Given the description of an element on the screen output the (x, y) to click on. 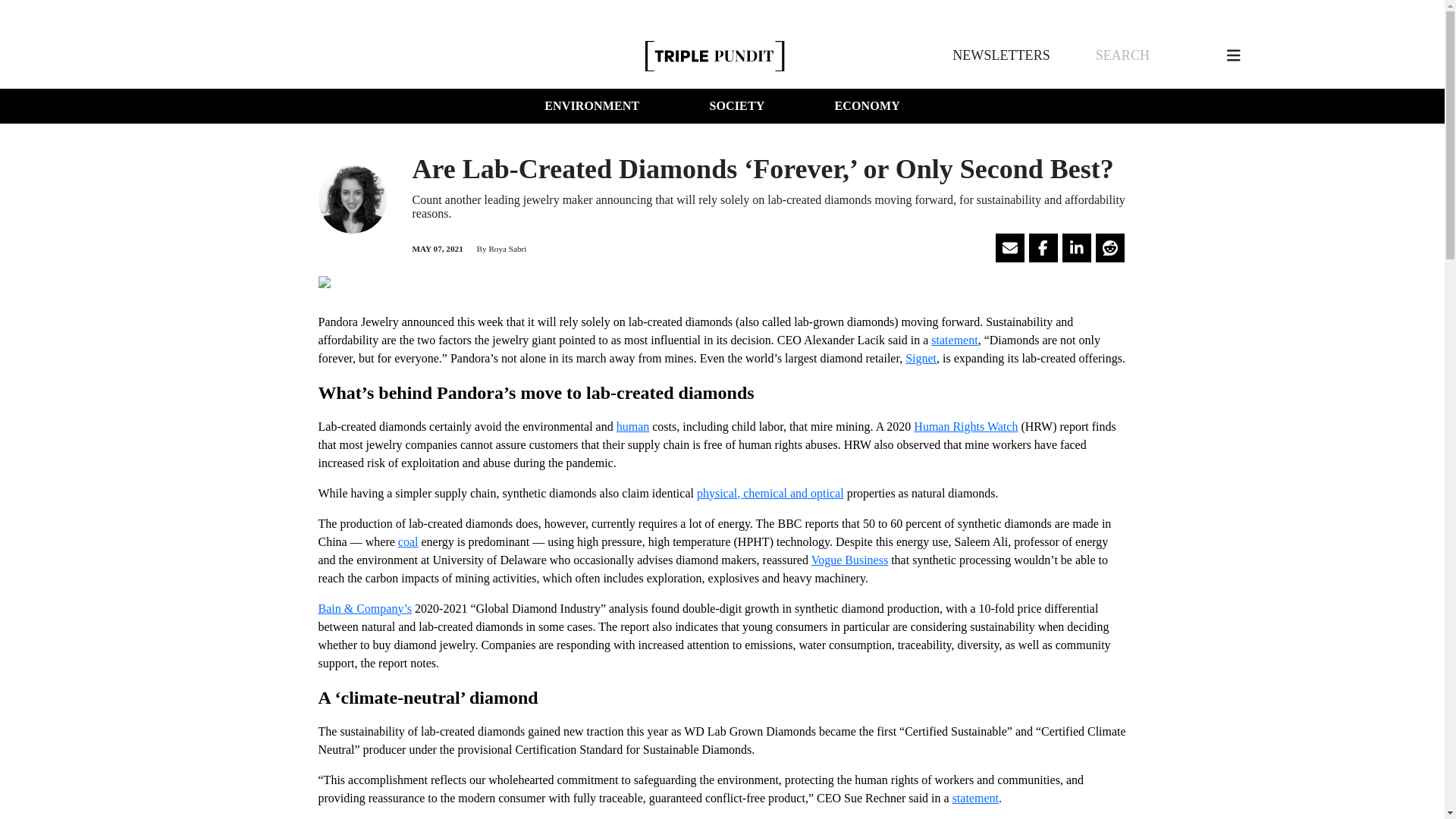
By Roya Sabri (500, 248)
ECONOMY (866, 105)
Human Rights Watch (965, 426)
Vogue Business (849, 559)
statement (953, 339)
physical, chemical and optical (770, 492)
statement (975, 797)
ENVIRONMENT (591, 105)
SOCIETY (736, 105)
coal (408, 541)
human (632, 426)
SEARCH (1122, 55)
Signet (920, 358)
